Given the description of an element on the screen output the (x, y) to click on. 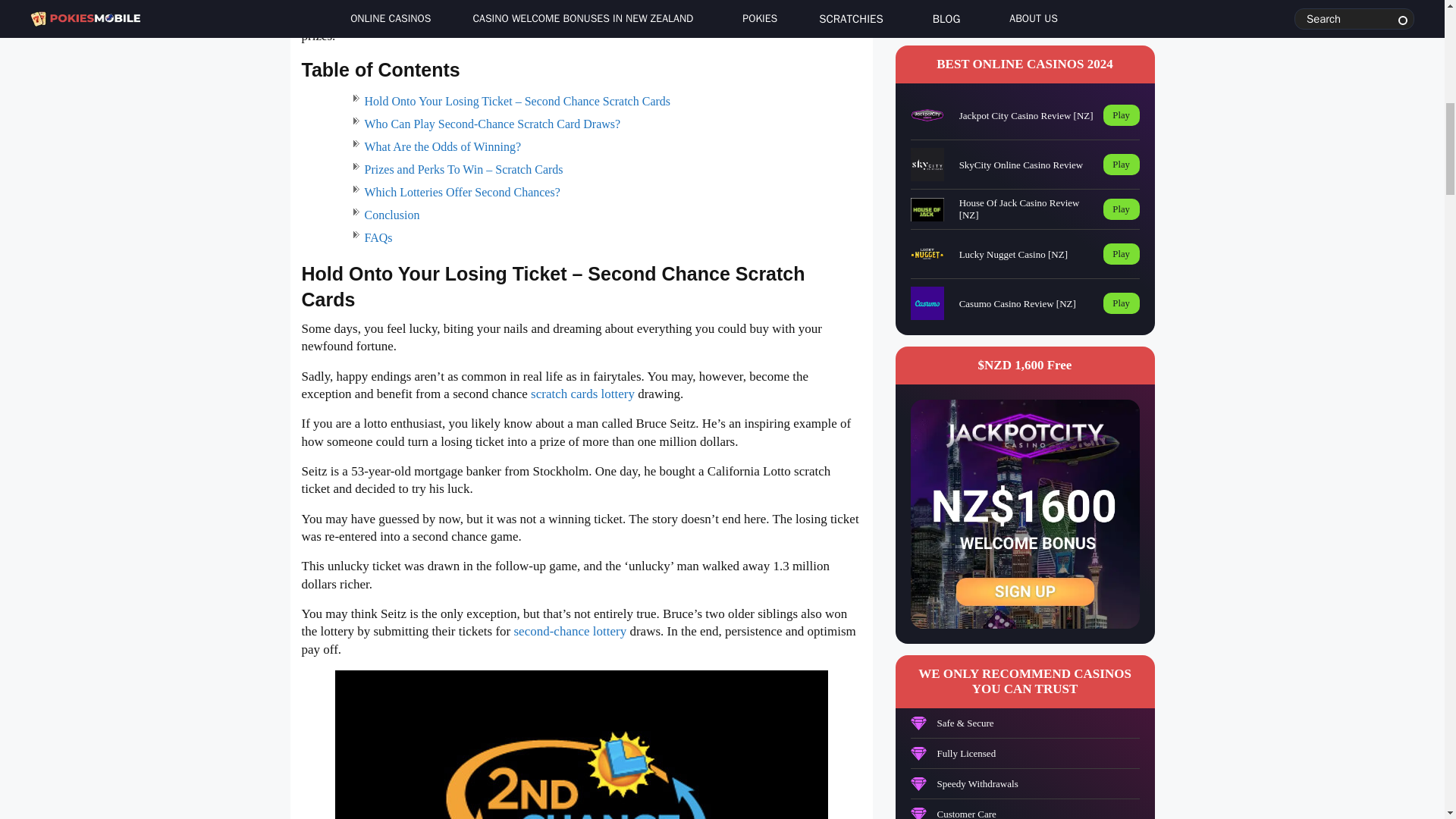
Which Lotteries Offer Second Chances? (461, 192)
Conclusion (391, 214)
What Are the Odds of Winning? (442, 146)
jackpot lotto (496, 3)
Scratch Cards (595, 17)
scratch cards lottery (582, 393)
FAQs (377, 237)
Who Can Play Second-Chance Scratch Card Draws? (492, 123)
